Given the description of an element on the screen output the (x, y) to click on. 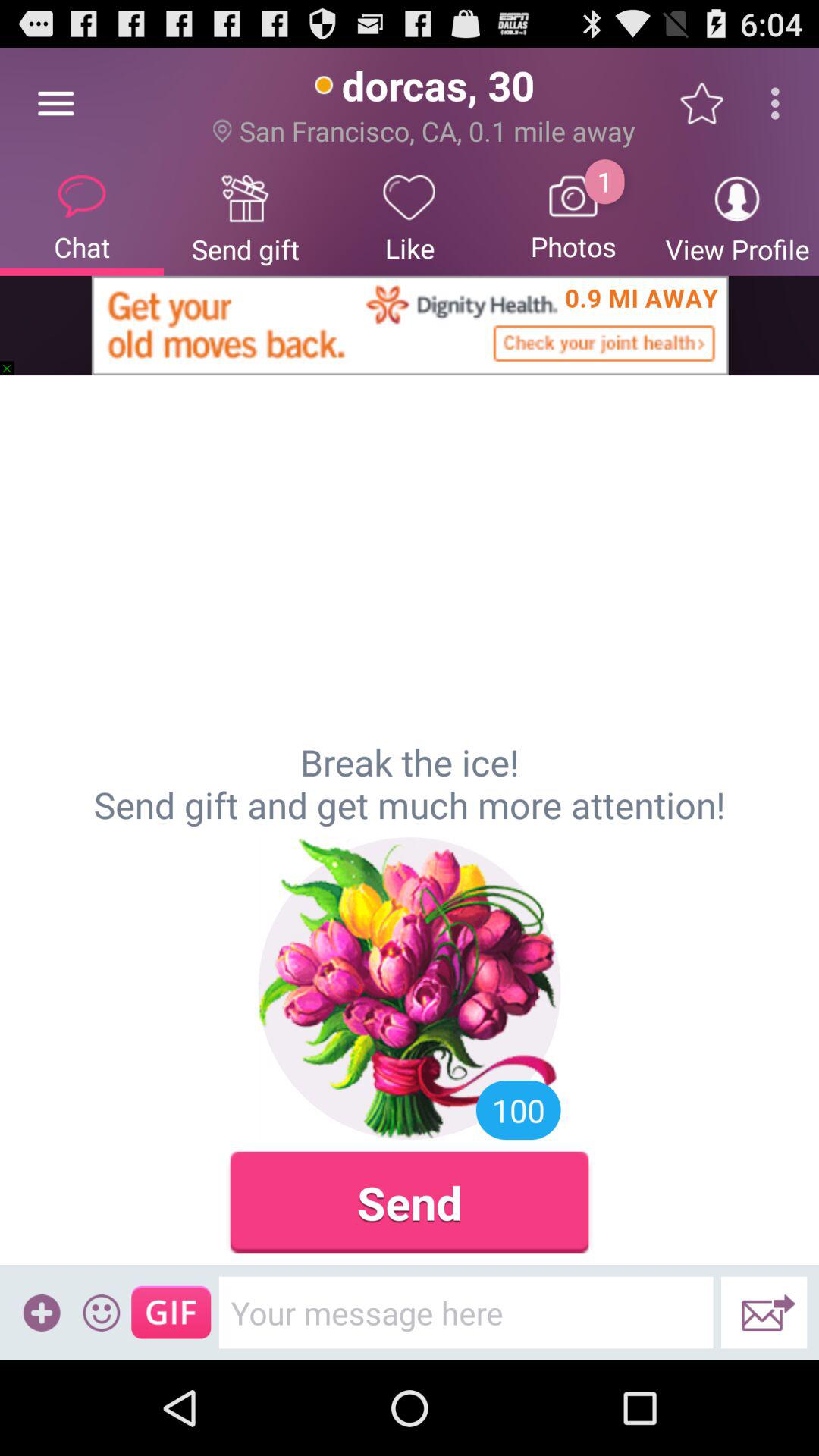
click icon to the left of photos item (409, 217)
